Given the description of an element on the screen output the (x, y) to click on. 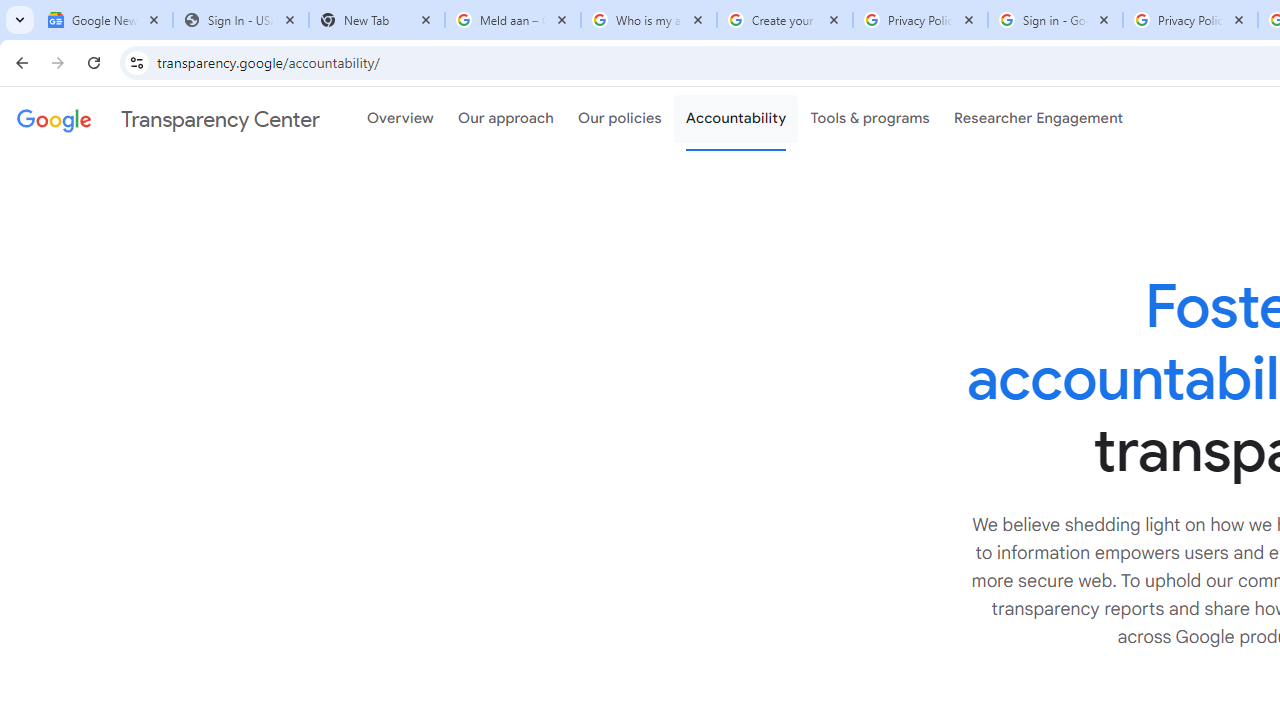
Tools & programs (869, 119)
Sign in - Google Accounts (1055, 20)
New Tab (376, 20)
